Given the description of an element on the screen output the (x, y) to click on. 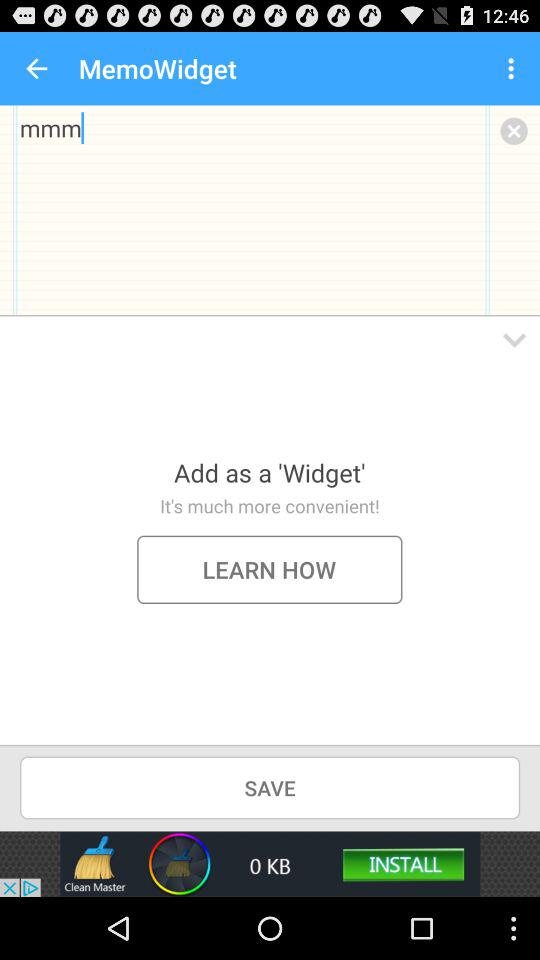
close memo (514, 130)
